Given the description of an element on the screen output the (x, y) to click on. 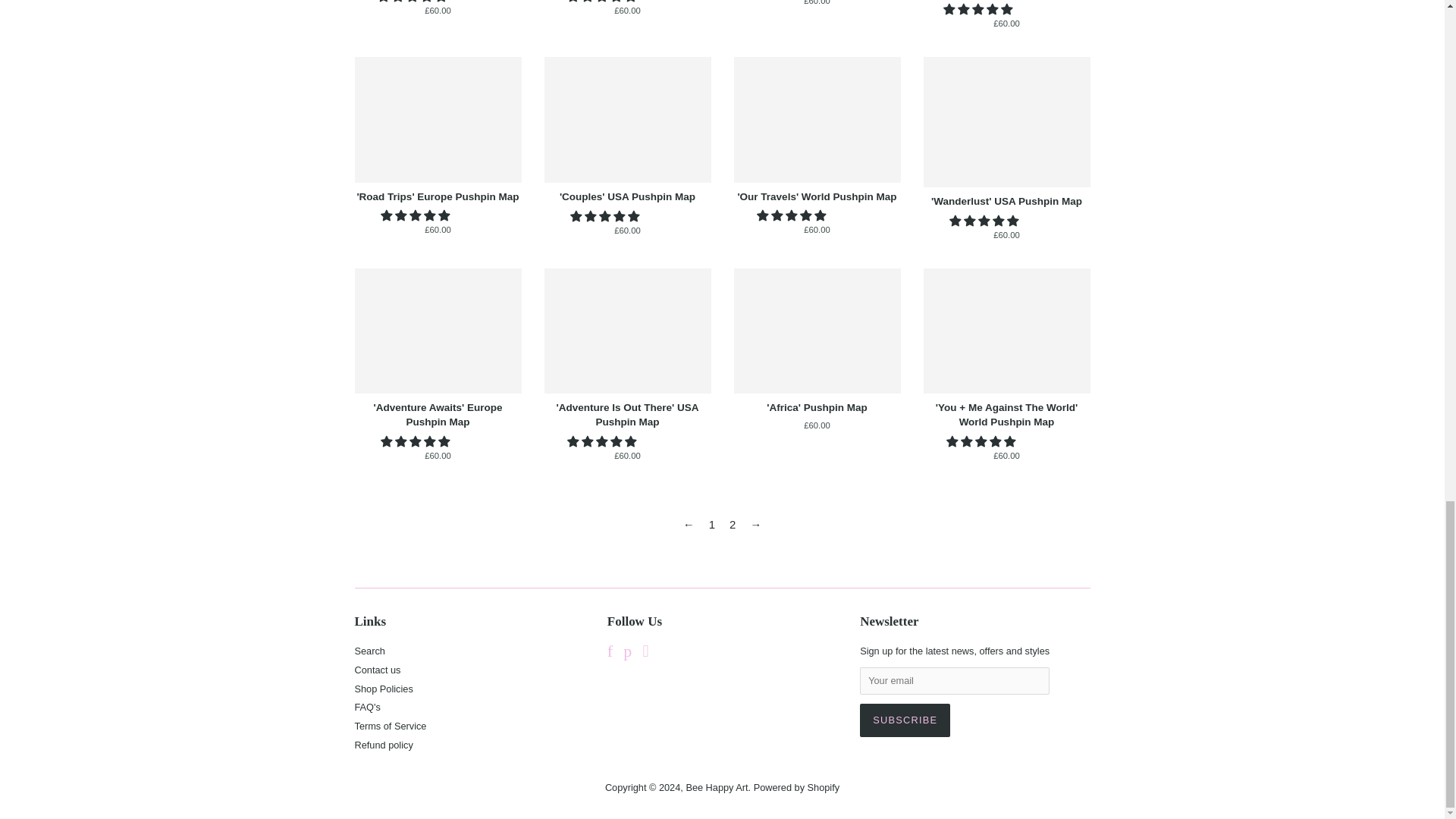
Bee Happy Art on Pinterest (627, 653)
Subscribe (905, 720)
Bee Happy Art on Instagram (646, 653)
Bee Happy Art on Facebook (609, 653)
